Given the description of an element on the screen output the (x, y) to click on. 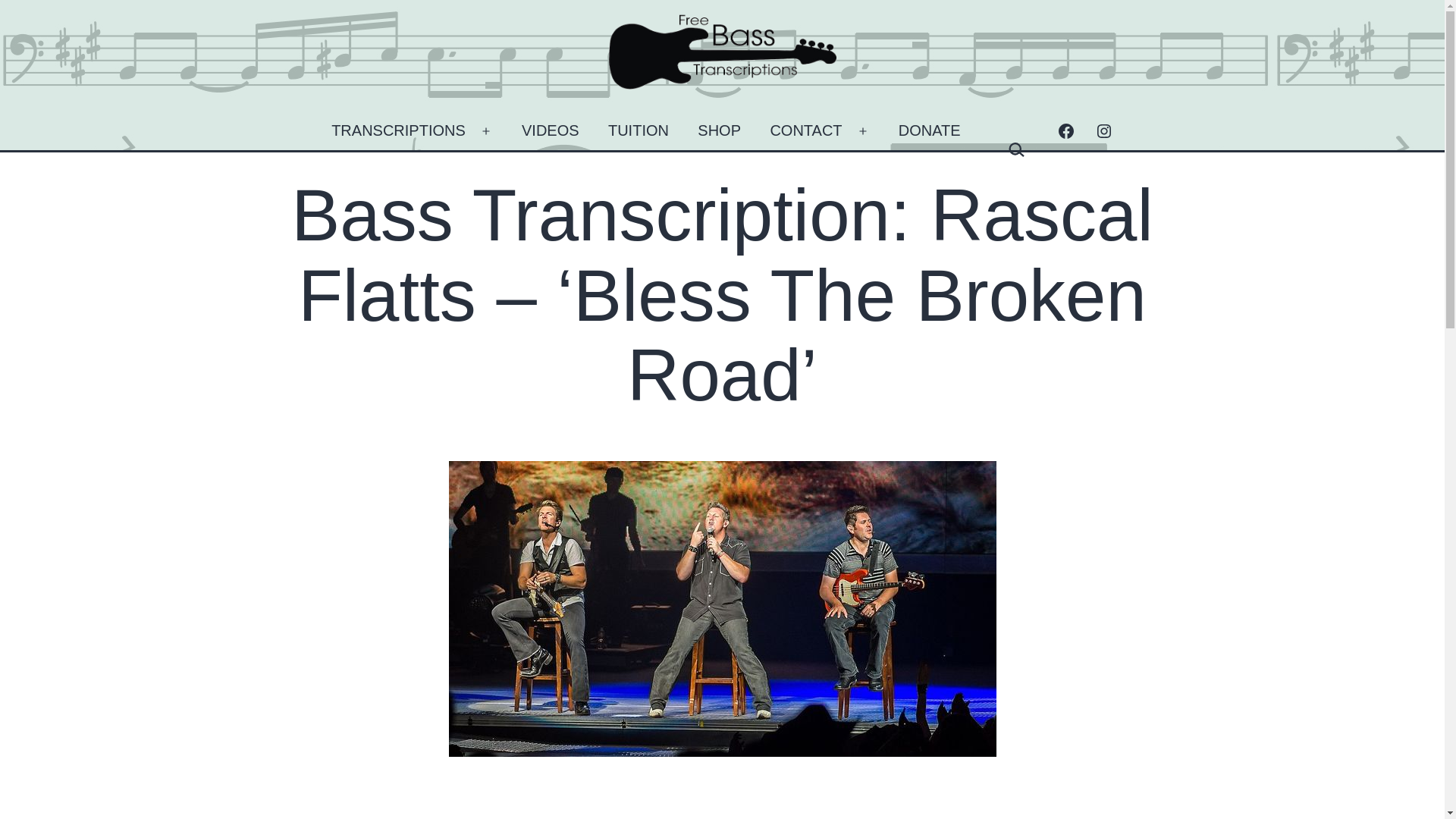
TRANSCRIPTIONS (398, 130)
CONTACT (805, 130)
TUITION (638, 130)
VIDEOS (550, 130)
INSTAGRAM (1103, 130)
SHOP (719, 130)
DONATE (929, 130)
FACEBOOK (1065, 130)
